Given the description of an element on the screen output the (x, y) to click on. 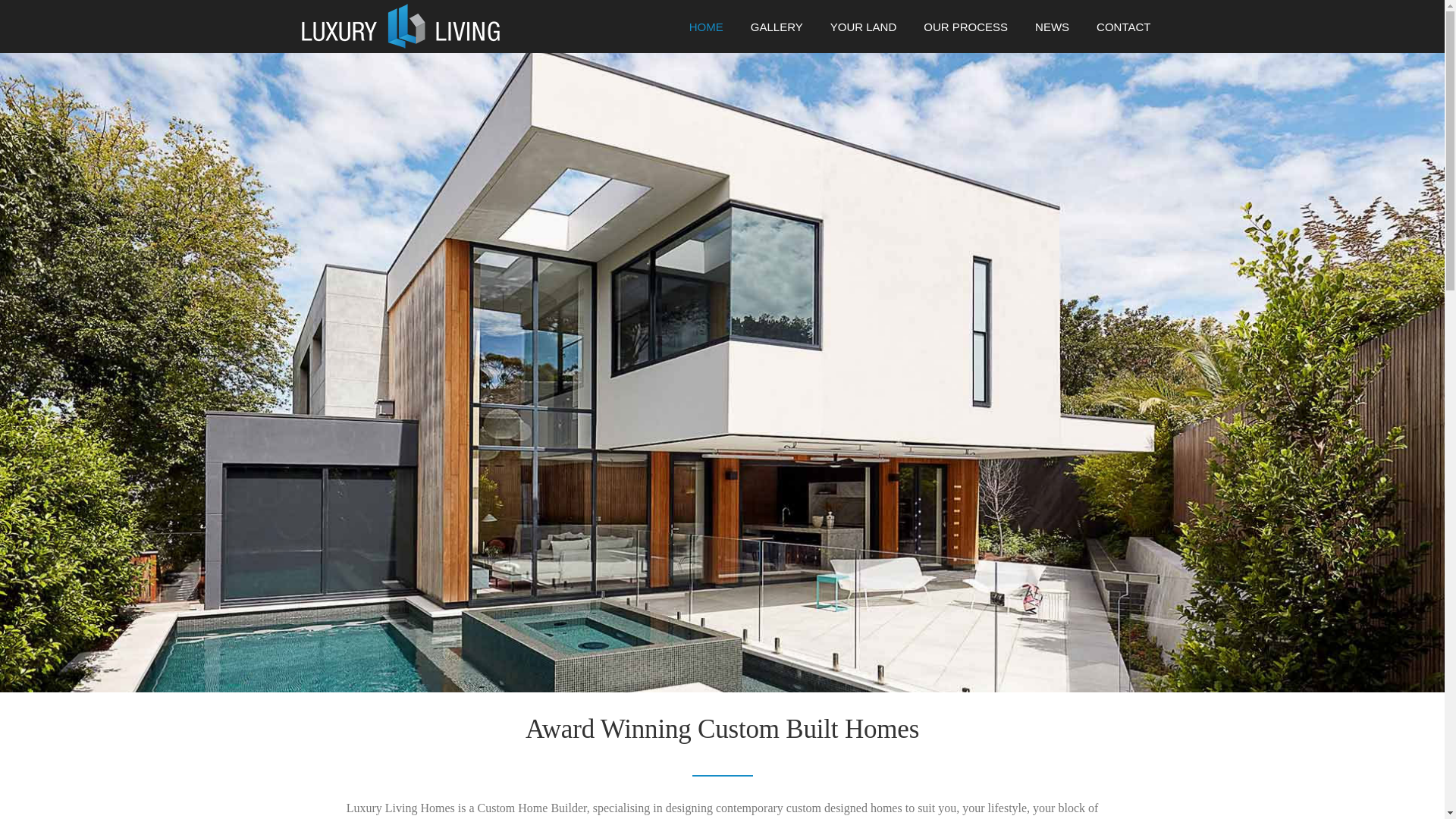
HOME Element type: text (706, 32)
Luxury Living Homes Element type: hover (399, 24)
YOUR LAND Element type: text (863, 32)
NEWS Element type: text (1051, 32)
OUR PROCESS Element type: text (965, 32)
Skip to content Element type: text (36, 10)
CONTACT Element type: text (1116, 32)
GALLERY Element type: text (776, 32)
